Given the description of an element on the screen output the (x, y) to click on. 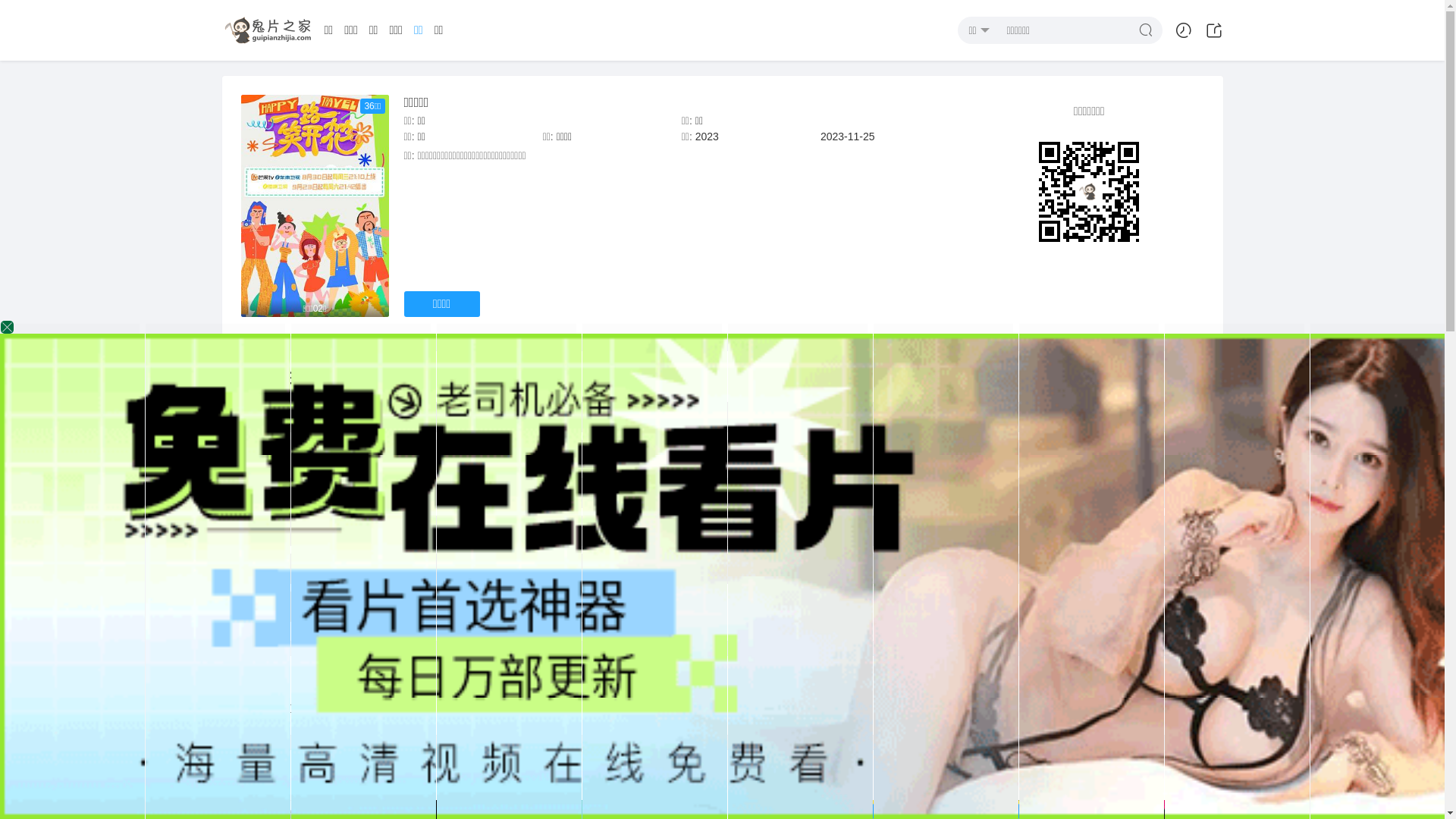
2023 Element type: text (706, 136)
